Given the description of an element on the screen output the (x, y) to click on. 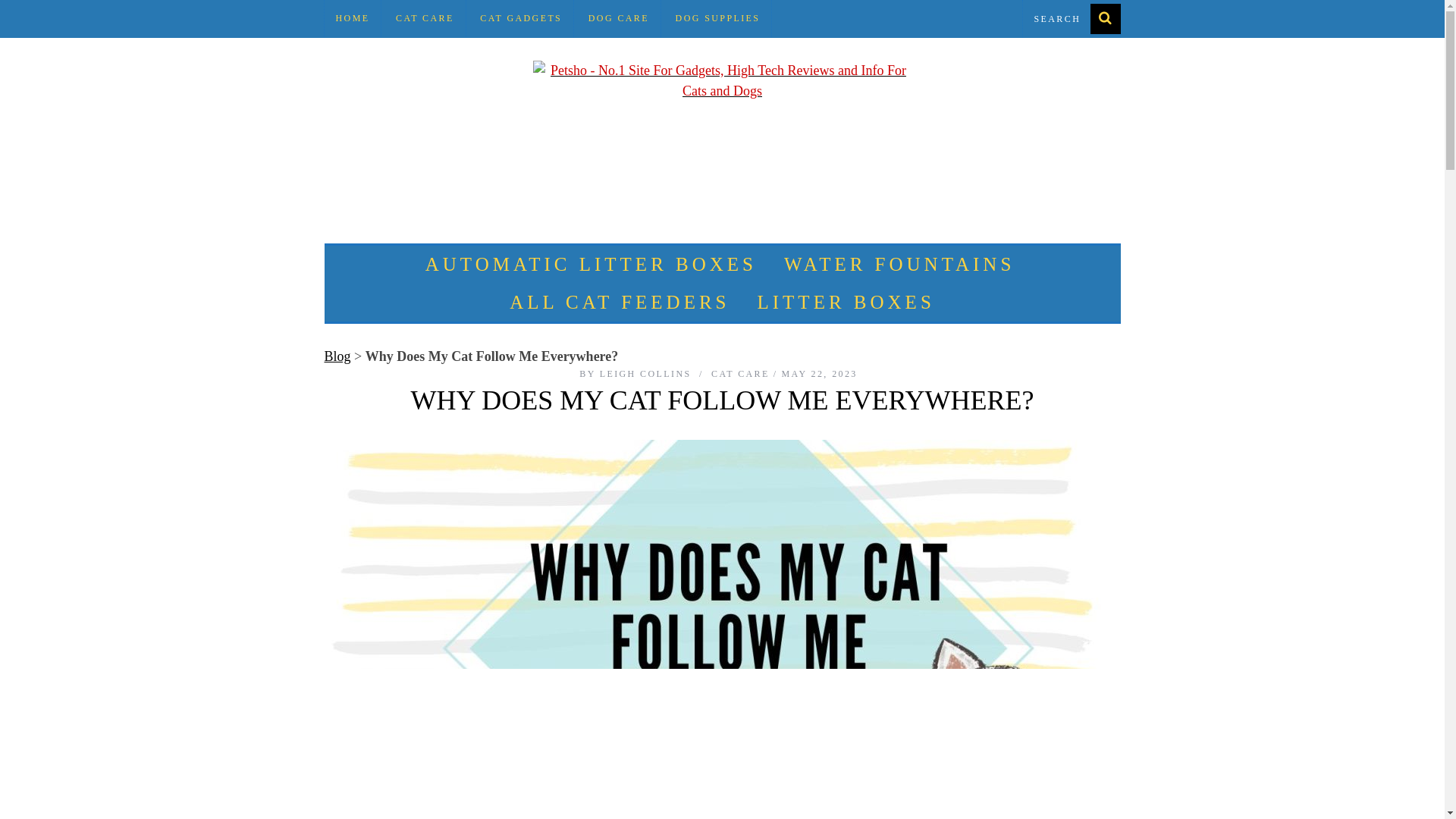
Search (1071, 18)
WATER FOUNTAINS (899, 264)
DOG CARE (618, 18)
CAT GADGETS (520, 18)
HOME (352, 18)
CAT CARE (424, 18)
DOG SUPPLIES (717, 18)
CAT CARE (740, 373)
AUTOMATIC LITTER BOXES (590, 264)
ALL CAT FEEDERS (619, 302)
